Given the description of an element on the screen output the (x, y) to click on. 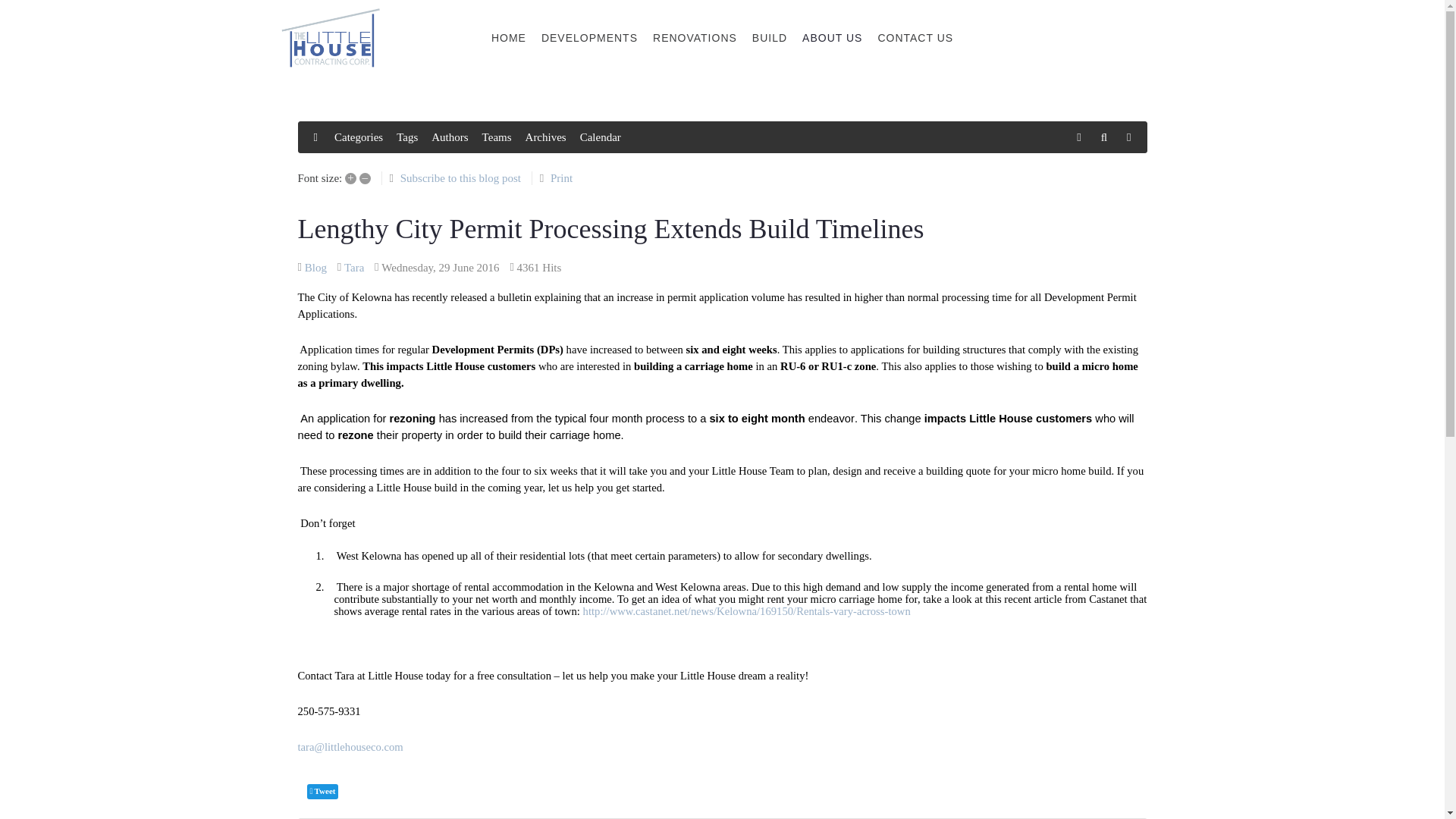
RENOVATIONS (694, 38)
DEVELOPMENTS (589, 38)
CONTACT US (914, 38)
Calendar (600, 137)
Teams (497, 137)
Print (561, 177)
ABOUT US (831, 38)
Tags (406, 137)
Archives (545, 137)
Authors (449, 137)
Categories (358, 137)
